Given the description of an element on the screen output the (x, y) to click on. 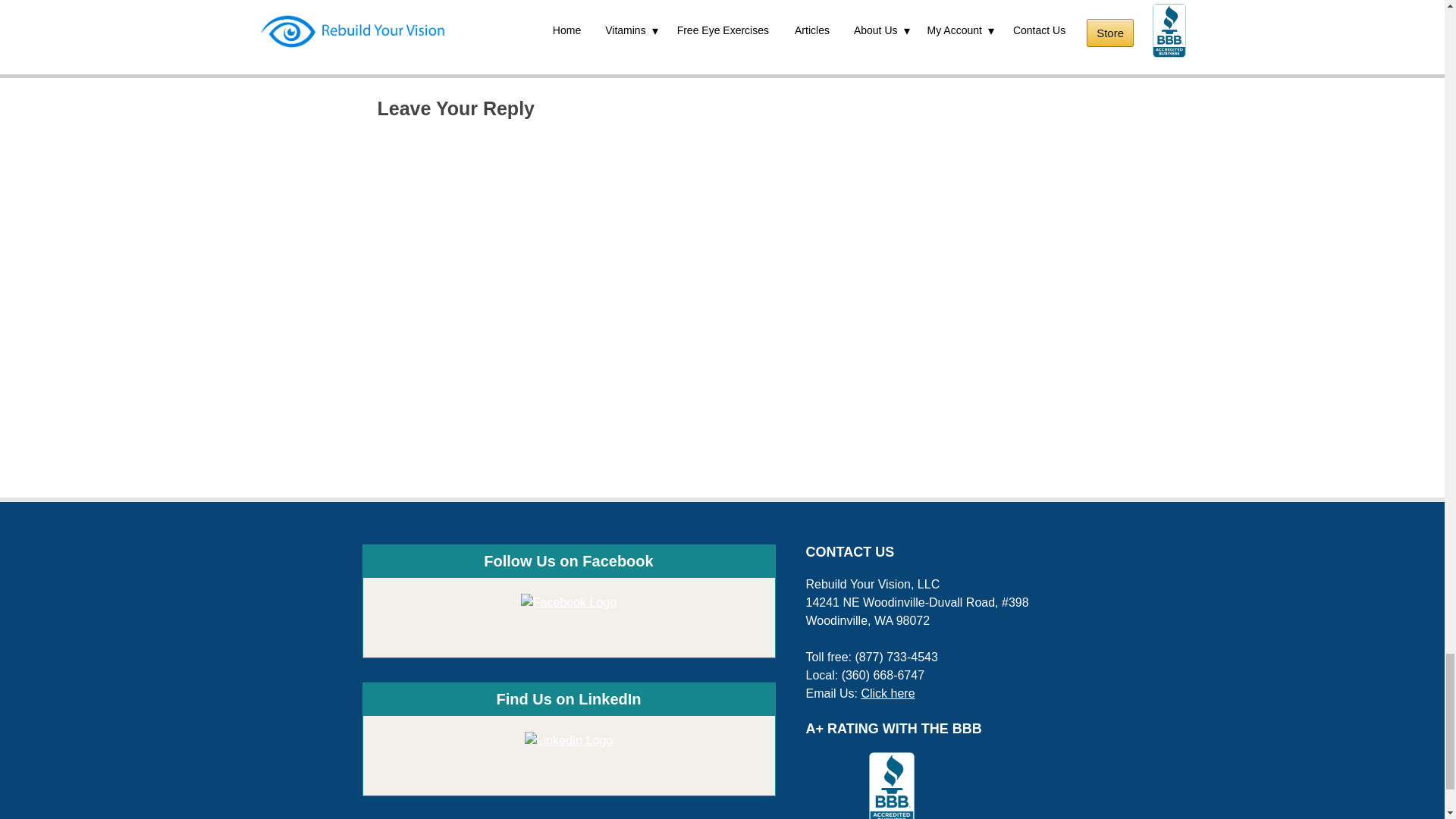
Gravatar for Tyler Sorensen (457, 2)
Find Us on LinkedIn (568, 741)
Follow Us on Facebook (568, 602)
